Given the description of an element on the screen output the (x, y) to click on. 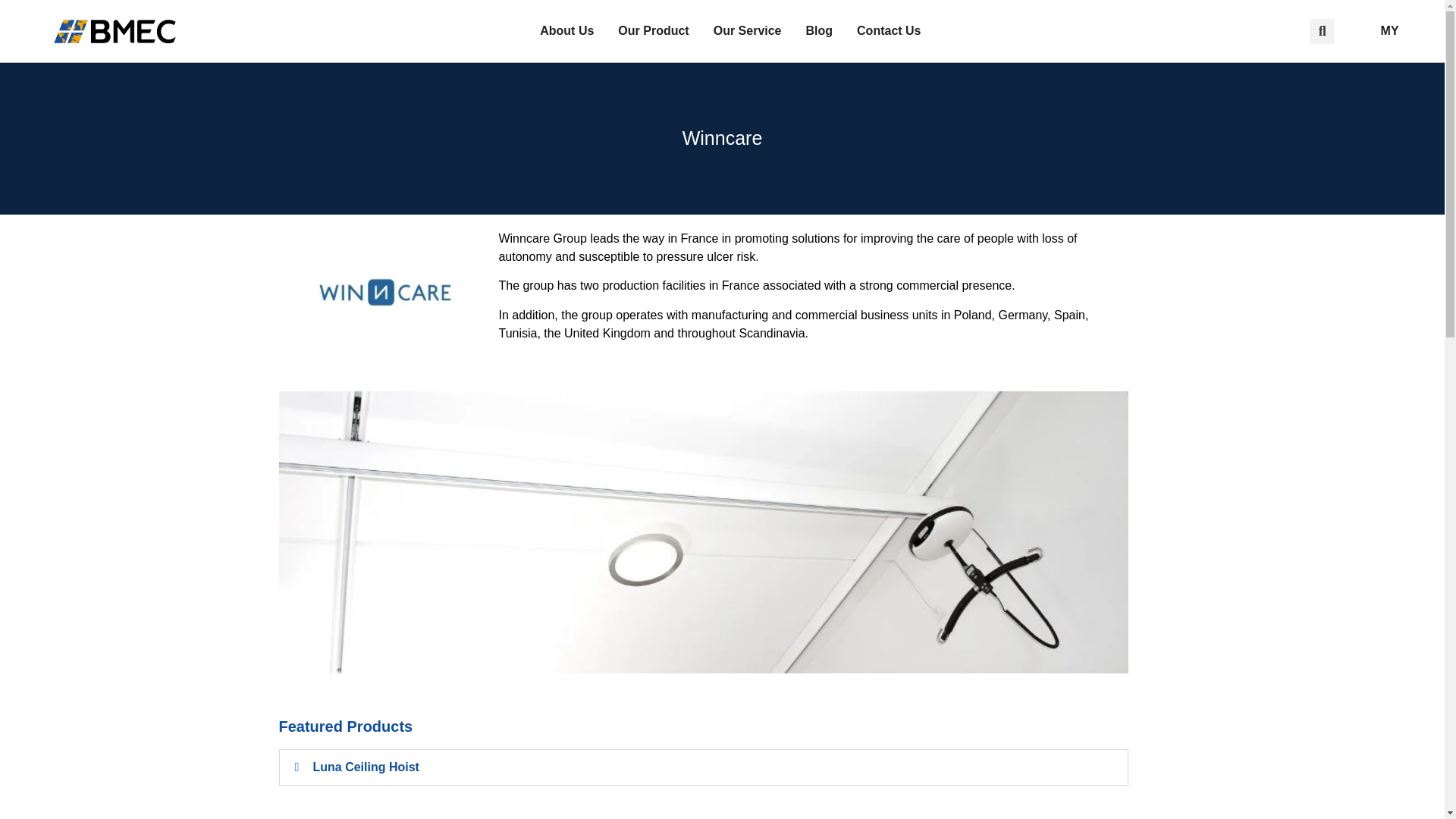
Contact Us (888, 30)
Blog (819, 30)
Our Product (653, 30)
MY (1390, 30)
Our Service (747, 30)
About Us (566, 30)
